Given the description of an element on the screen output the (x, y) to click on. 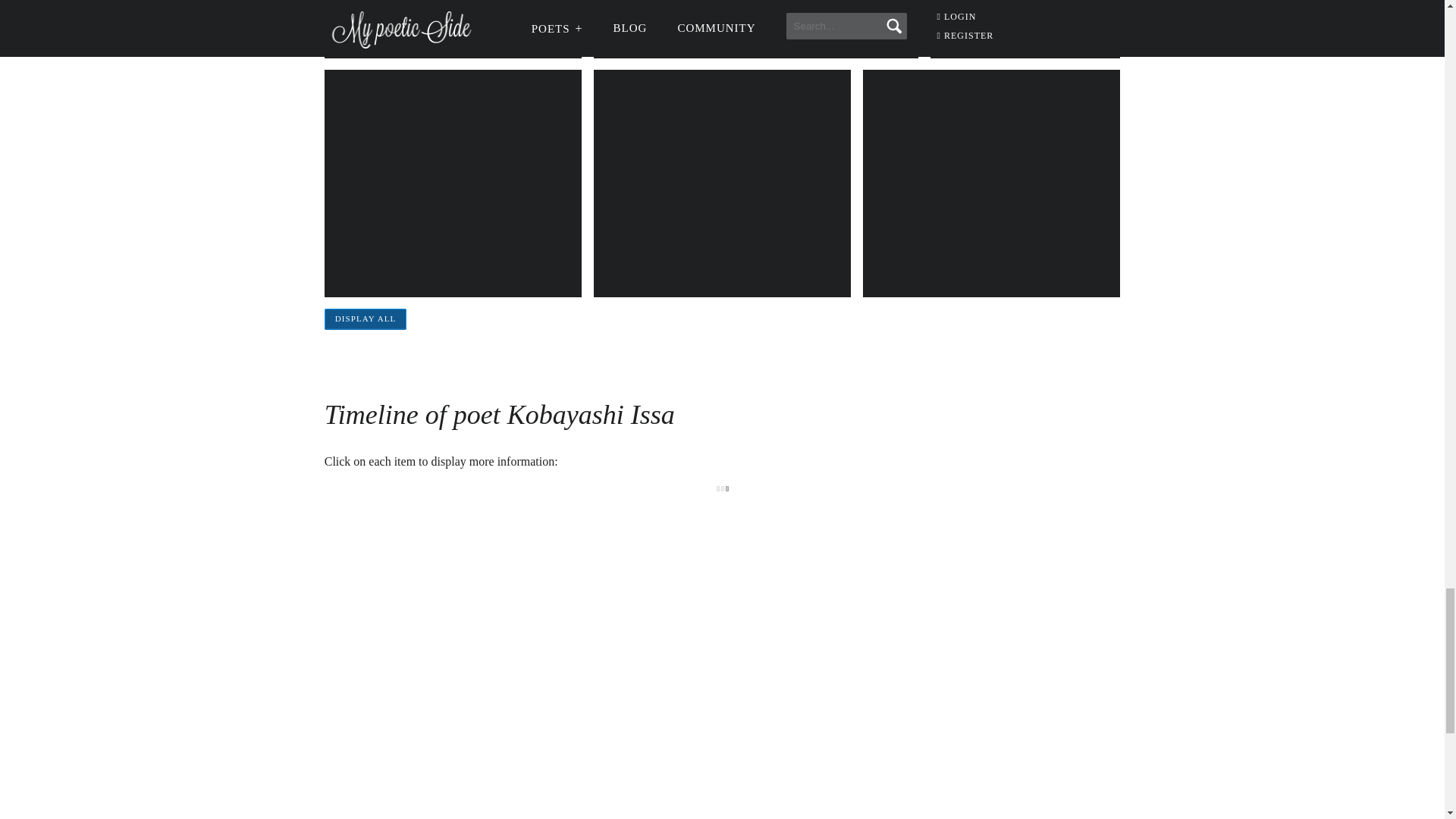
A sketch of the famous poet Kobayashi Issa (452, 183)
A picture of the Japanese poet Kobayashi Issa wearing a hat (452, 29)
A picture of the poet Kobayashi Issa kneeling down (1024, 29)
A picture of an elderly looking Kobayashi Issa (756, 29)
A statue of the great Japanese poet Kobayashi Issa (991, 183)
A close up picture of the poet Kobayashi Issa (722, 183)
